Given the description of an element on the screen output the (x, y) to click on. 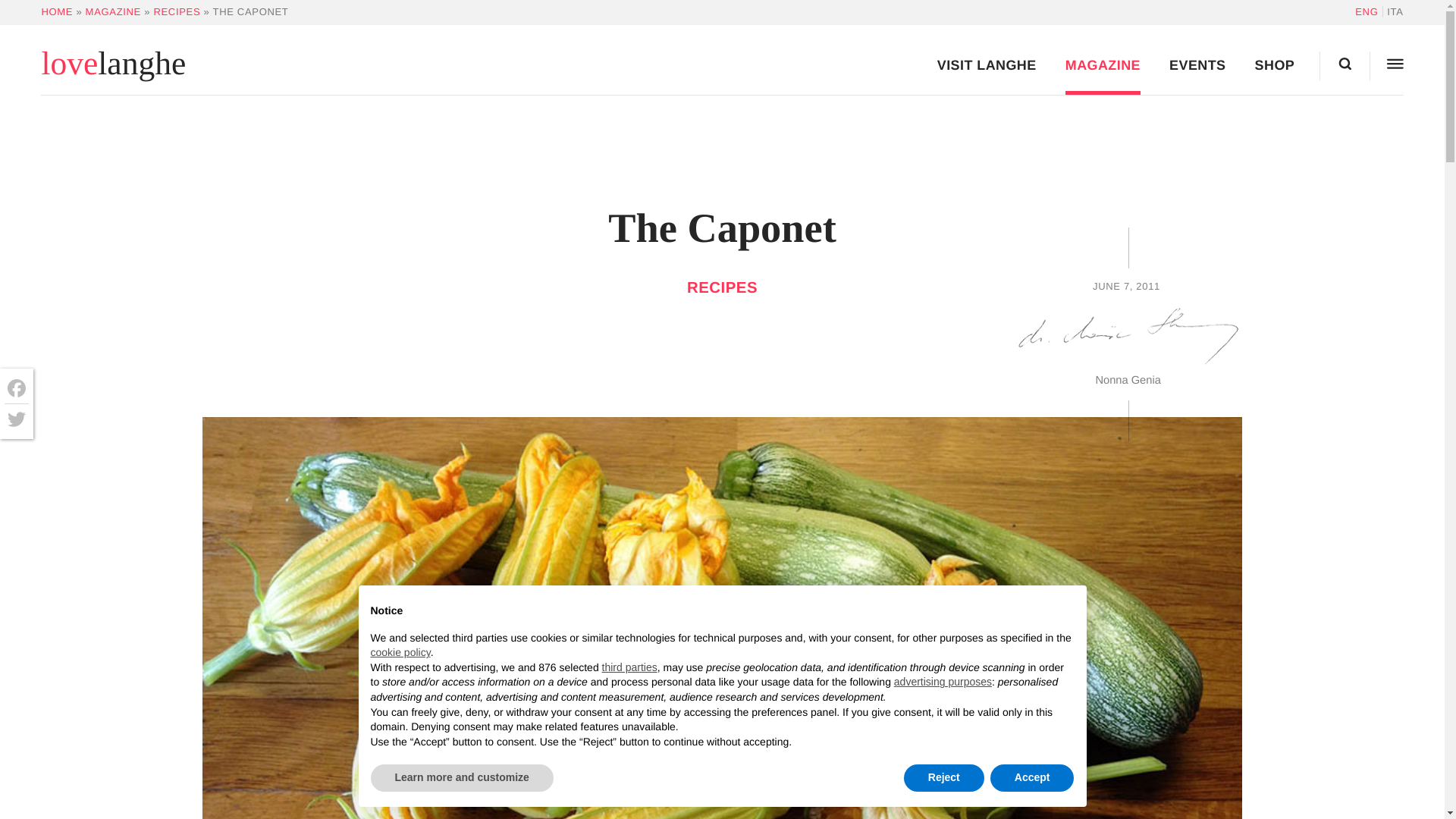
HOME (56, 11)
MAGAZINE (113, 11)
